Given the description of an element on the screen output the (x, y) to click on. 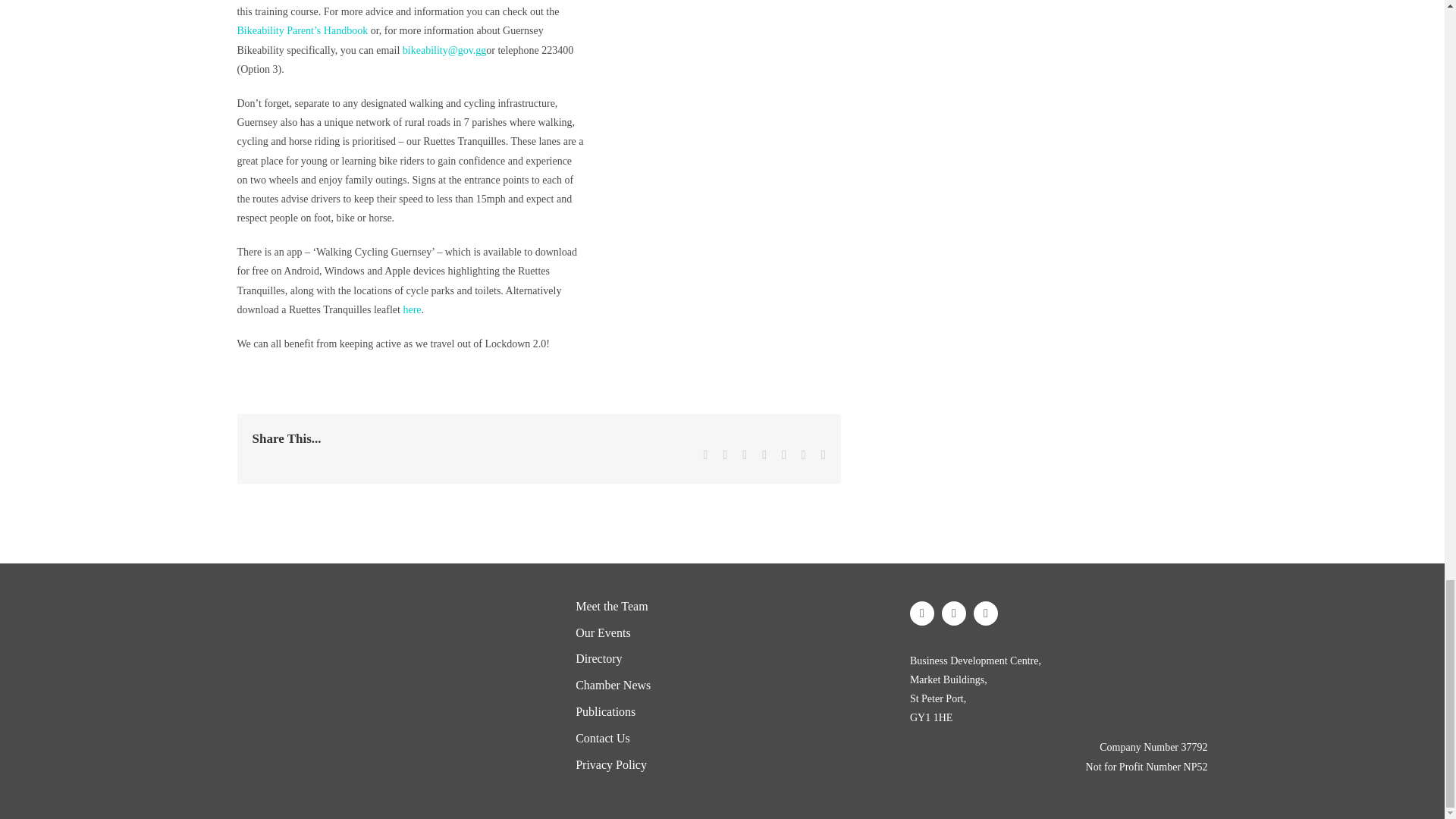
Facebook (922, 613)
Twitter (954, 613)
